Given the description of an element on the screen output the (x, y) to click on. 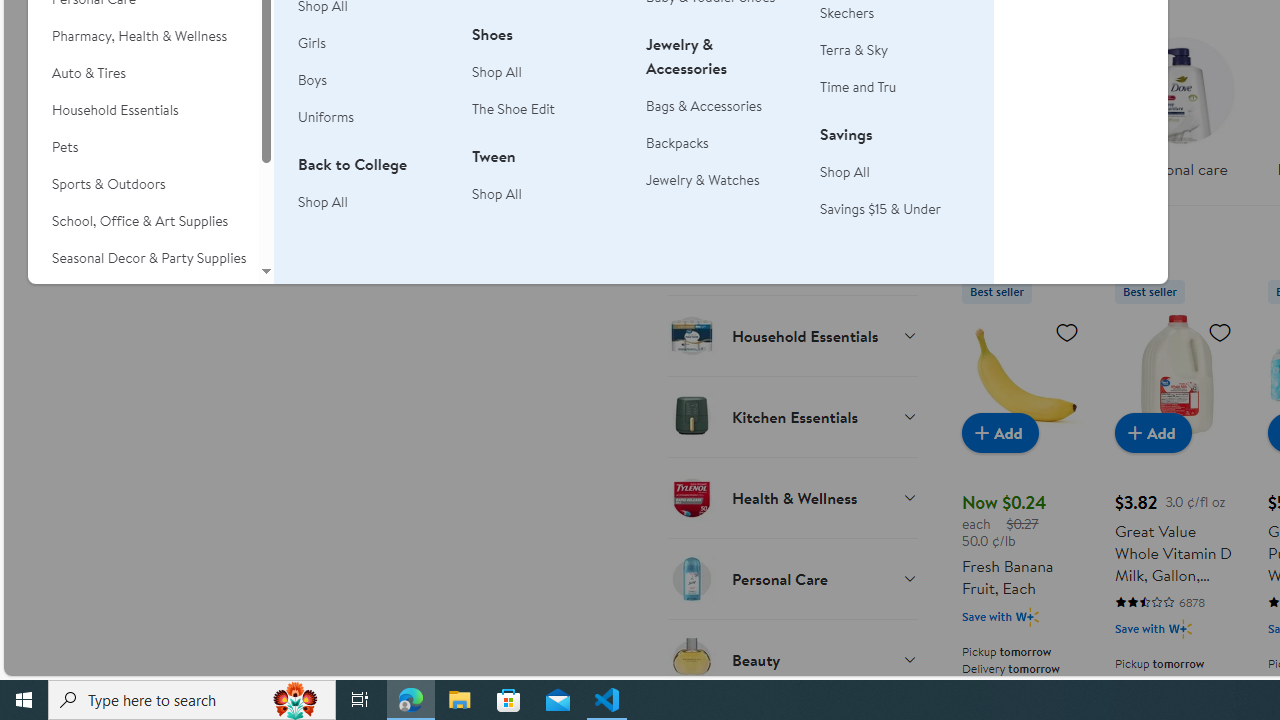
Fresh Banana Fruit, Each (1024, 374)
Pharmacy, Health & Wellness (143, 36)
Terra & Sky (854, 49)
Girls (373, 43)
Pets (143, 147)
Backpacks (677, 142)
Time and Tru (895, 87)
Jewelry & Watches (721, 179)
Walmart Plus (1179, 628)
The Shoe Edit (513, 108)
Shop All (845, 172)
Beauty (792, 659)
Personal care (1180, 114)
Household Essentials (792, 335)
